Given the description of an element on the screen output the (x, y) to click on. 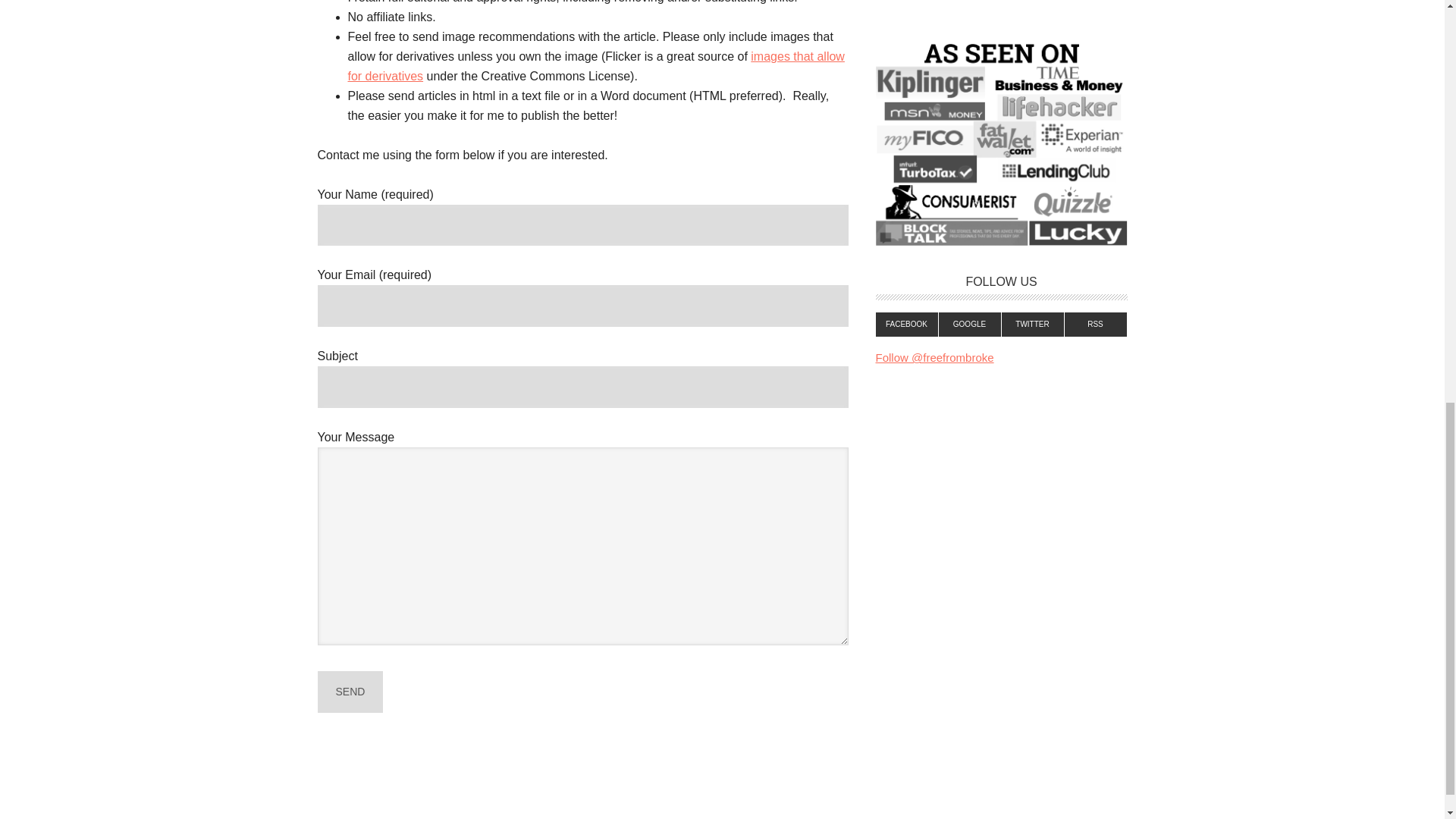
Send (349, 691)
Send (349, 691)
TWITTER (1032, 324)
RSS (1095, 324)
images that allow for derivatives (595, 65)
FACEBOOK (906, 324)
GOOGLE (970, 324)
